Given the description of an element on the screen output the (x, y) to click on. 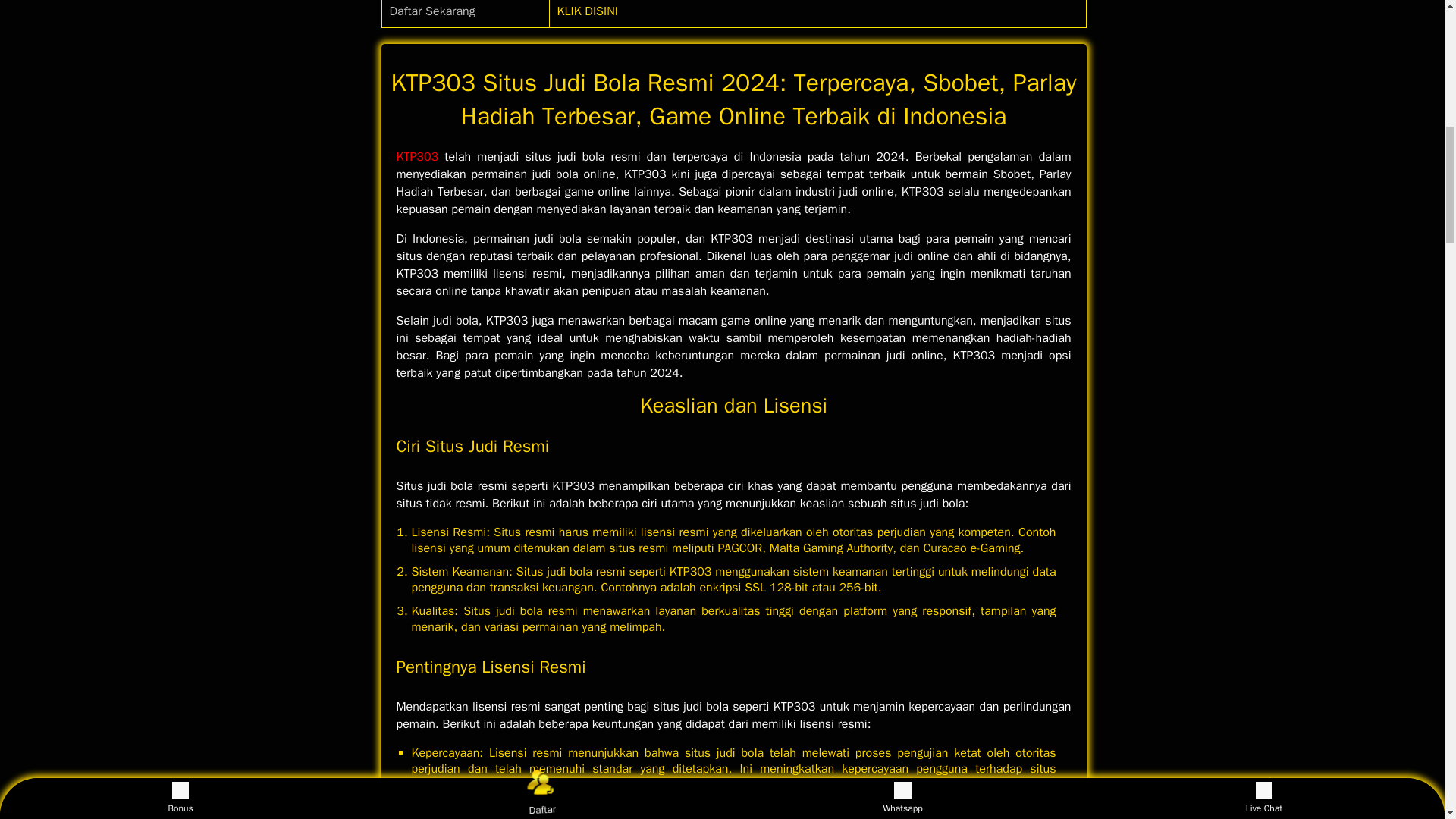
KLIK DISINI (587, 11)
KTP303 (417, 156)
